Given the description of an element on the screen output the (x, y) to click on. 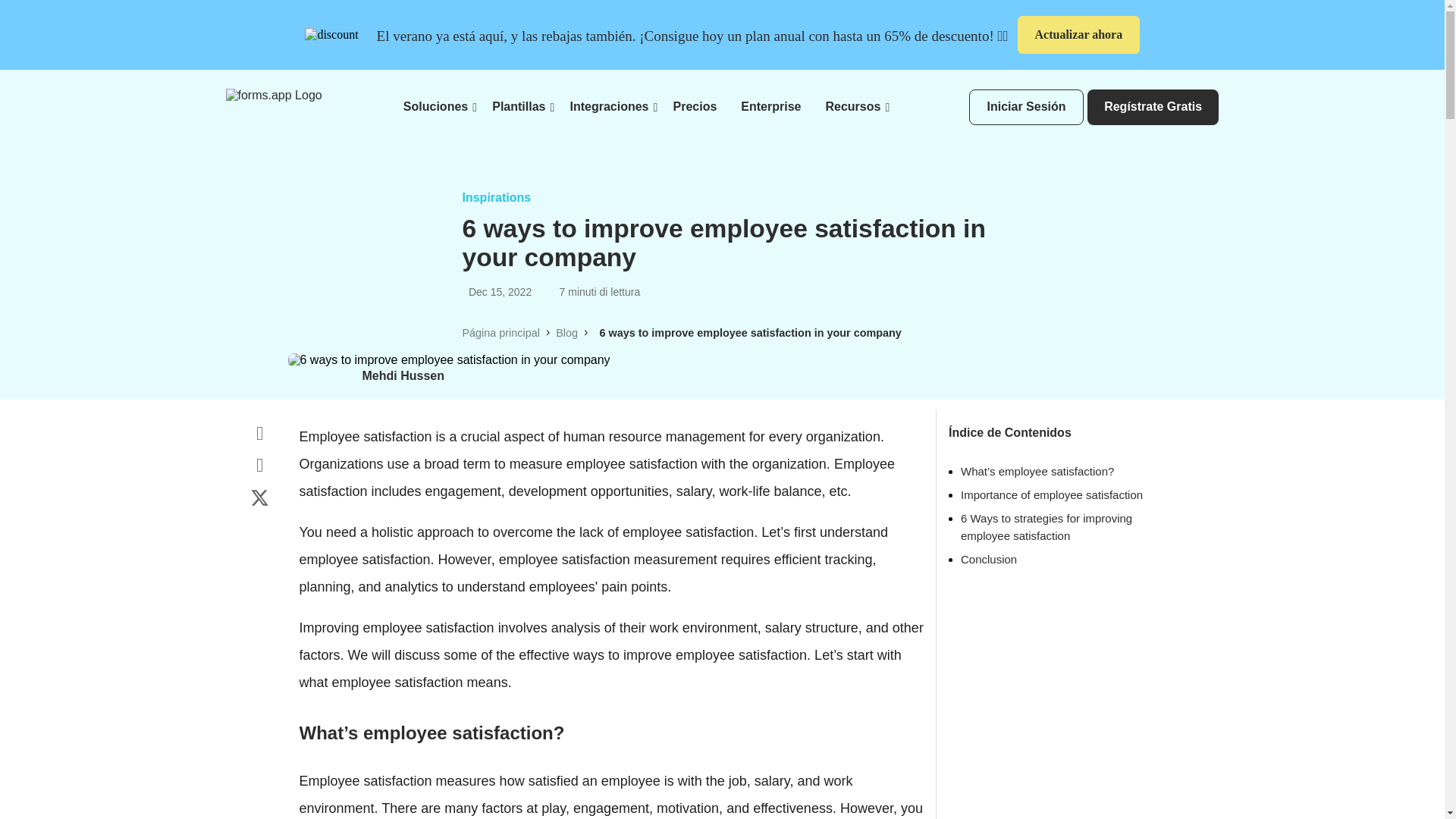
Conclusion (988, 558)
Enterprise (770, 106)
Actualizar ahora (1077, 34)
Importance of employee satisfaction (1051, 494)
6 Ways to strategies for improving employee satisfaction (1046, 526)
Precios (694, 106)
